Given the description of an element on the screen output the (x, y) to click on. 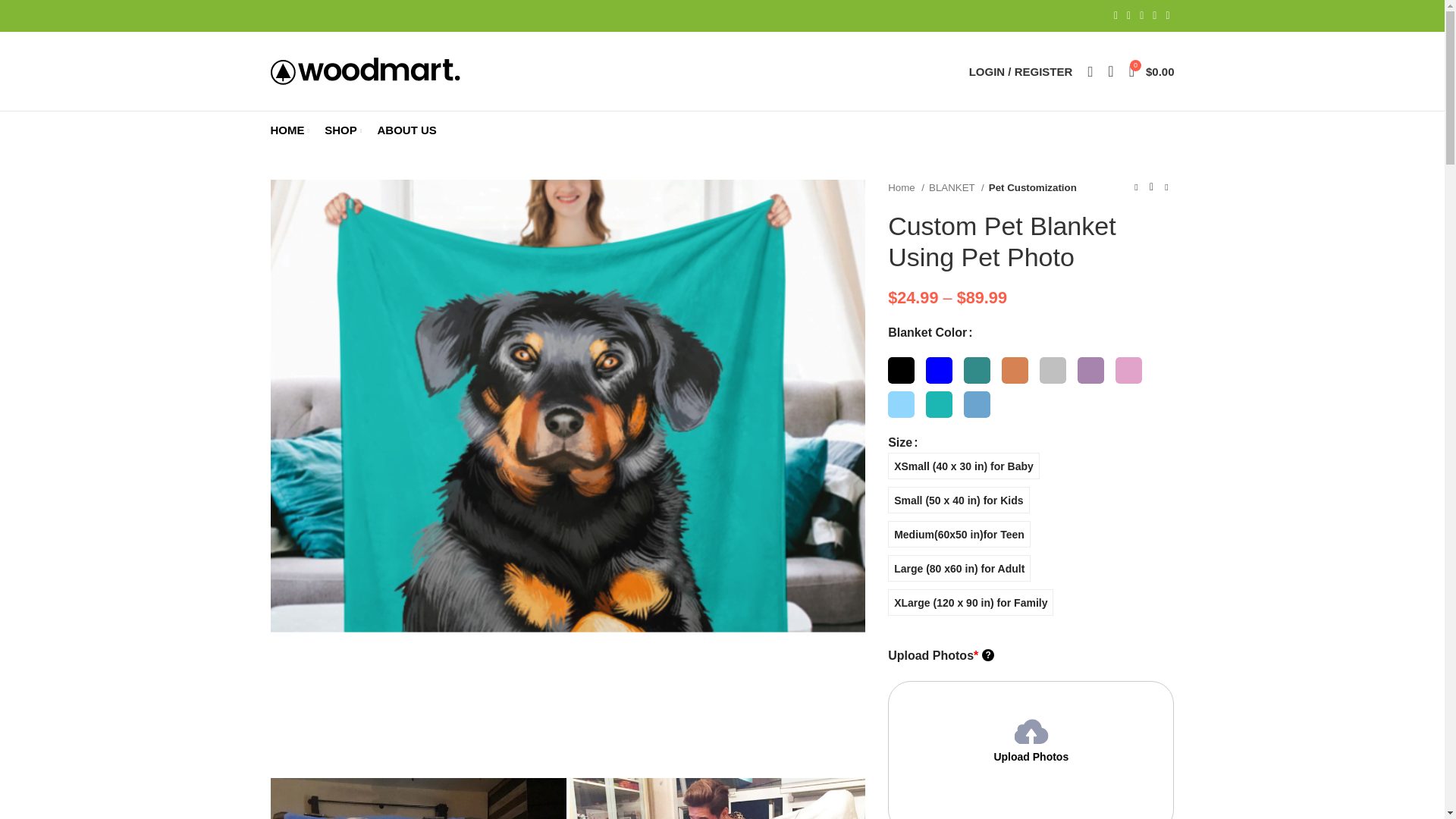
Shopping cart (1151, 71)
Home (906, 187)
BLANKET (956, 187)
My account (1020, 71)
ABOUT US (406, 130)
Log in (946, 337)
SHOP (343, 130)
HOME (289, 130)
